Given the description of an element on the screen output the (x, y) to click on. 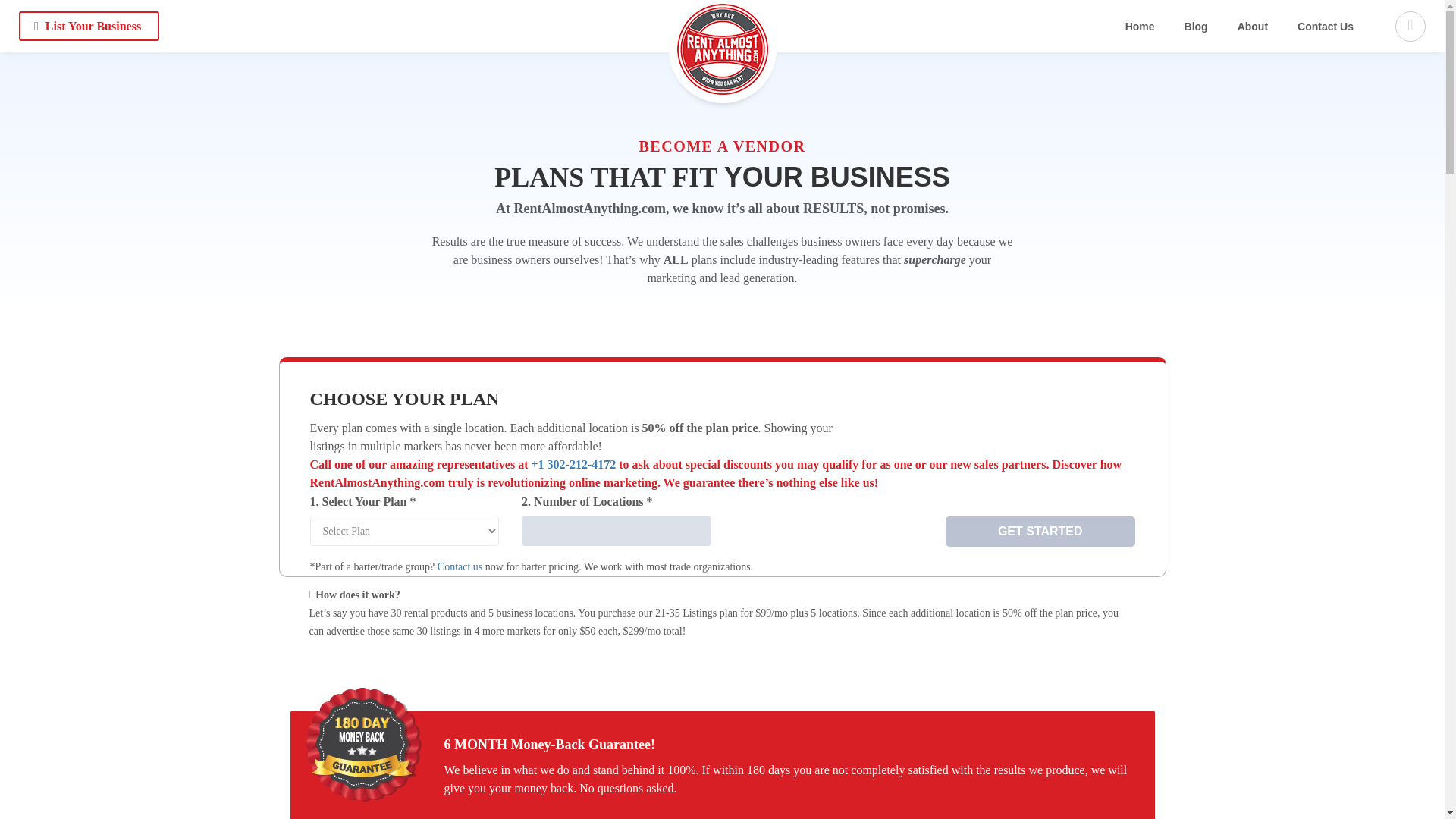
About (1252, 26)
Sign in (721, 473)
Get Started (1039, 531)
List Your Business (88, 25)
Contact us (460, 566)
Blog (1196, 26)
Get Started (1039, 531)
Contact Us (1325, 26)
Home (1139, 26)
